Given the description of an element on the screen output the (x, y) to click on. 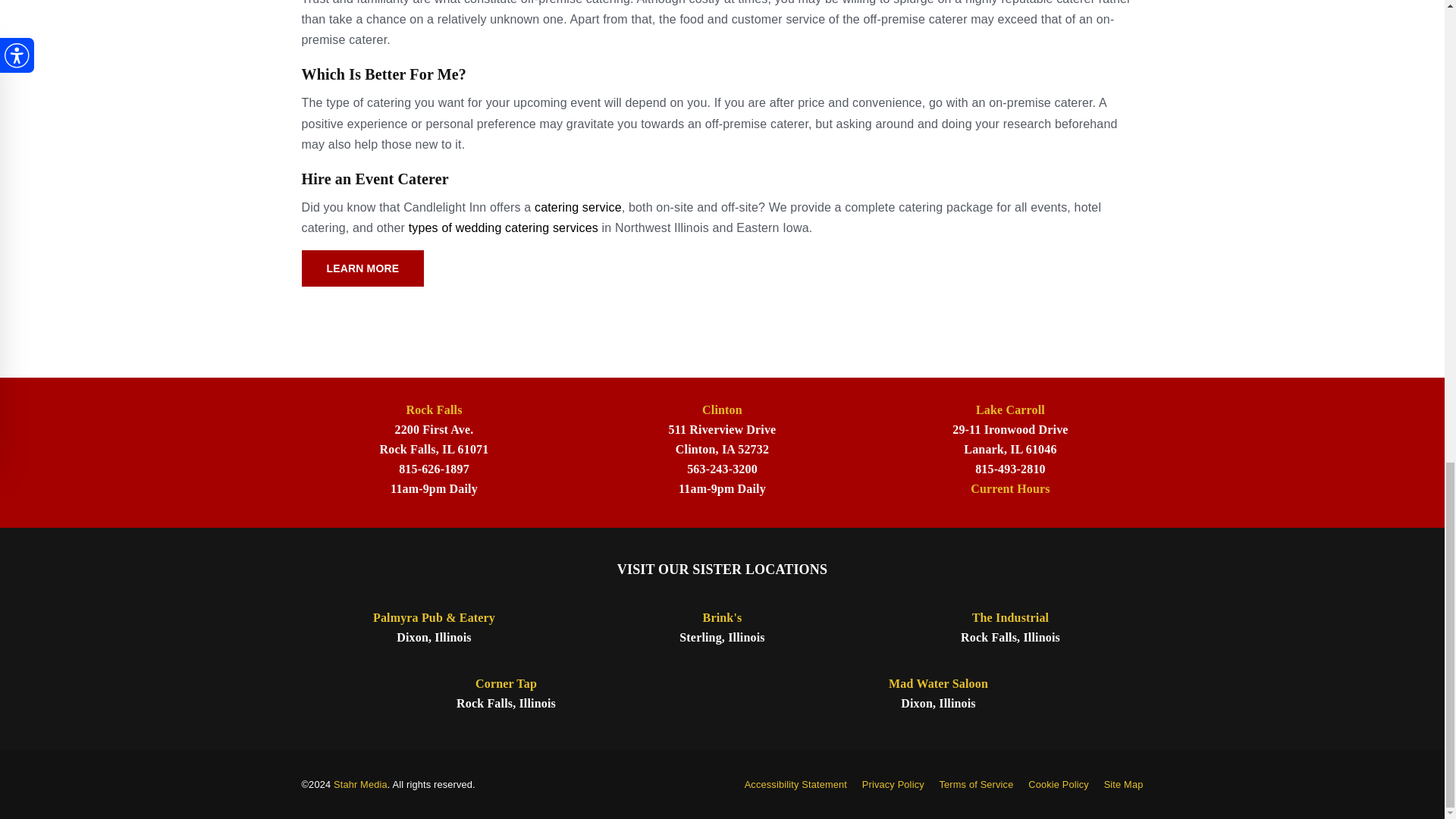
LEARN MORE (363, 268)
Rock Falls (433, 409)
Lake Carroll (1010, 409)
types of wedding catering services (503, 227)
Clinton (721, 409)
Current Hours (1010, 488)
The Industrial (1010, 617)
catering service (577, 206)
Brink's (722, 617)
